Given the description of an element on the screen output the (x, y) to click on. 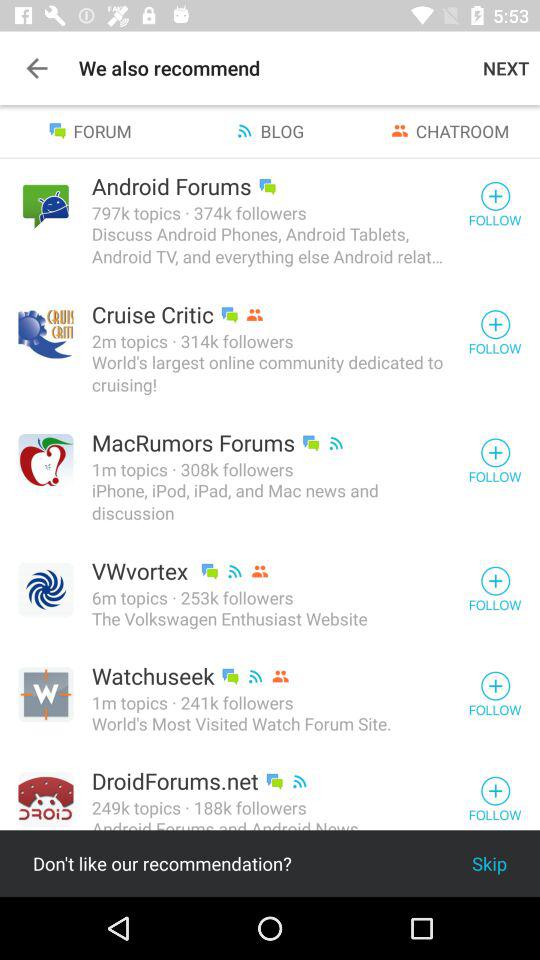
select the item to the right of the we also recommend app (506, 68)
